Given the description of an element on the screen output the (x, y) to click on. 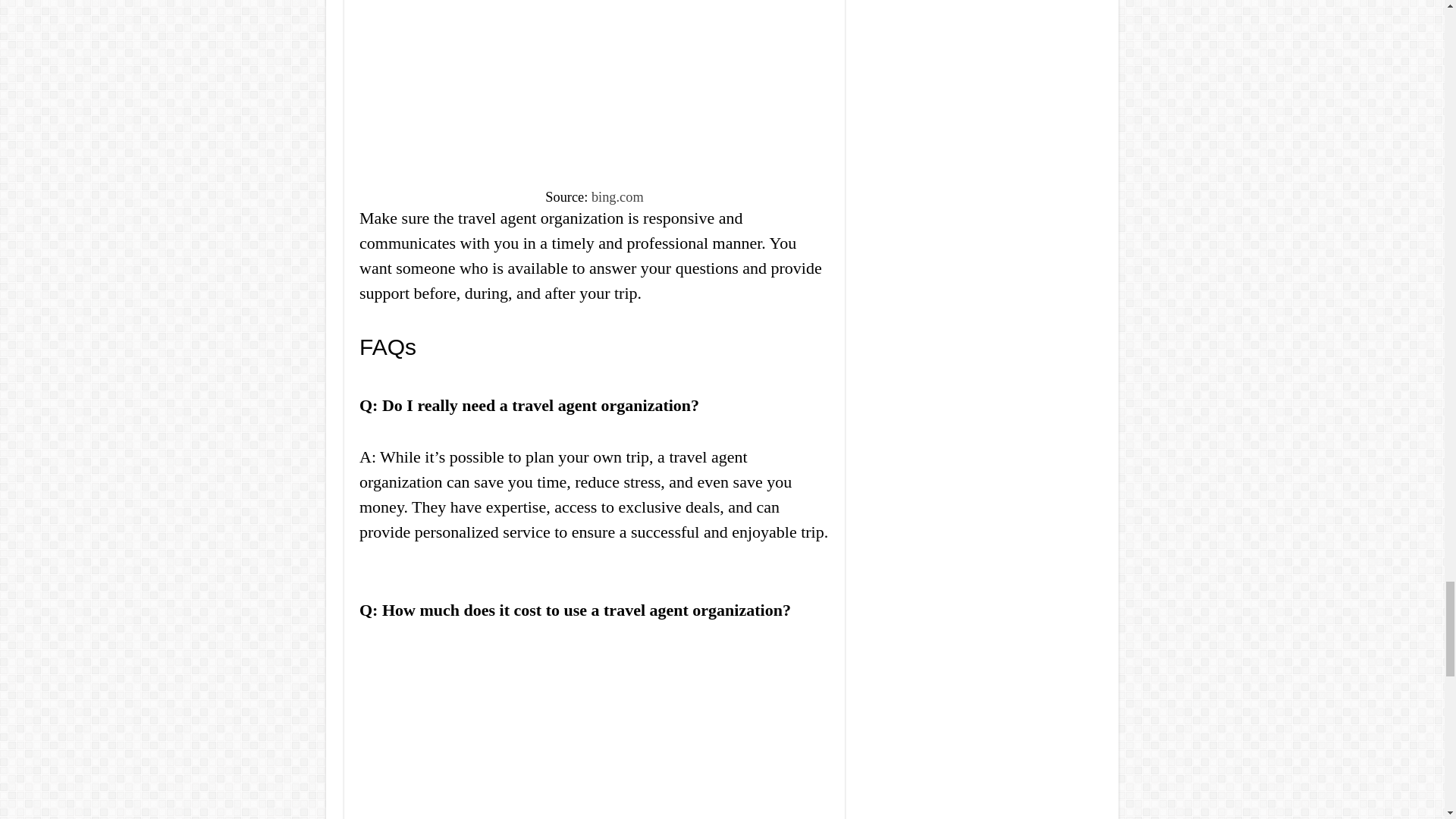
bing.com (617, 196)
